Given the description of an element on the screen output the (x, y) to click on. 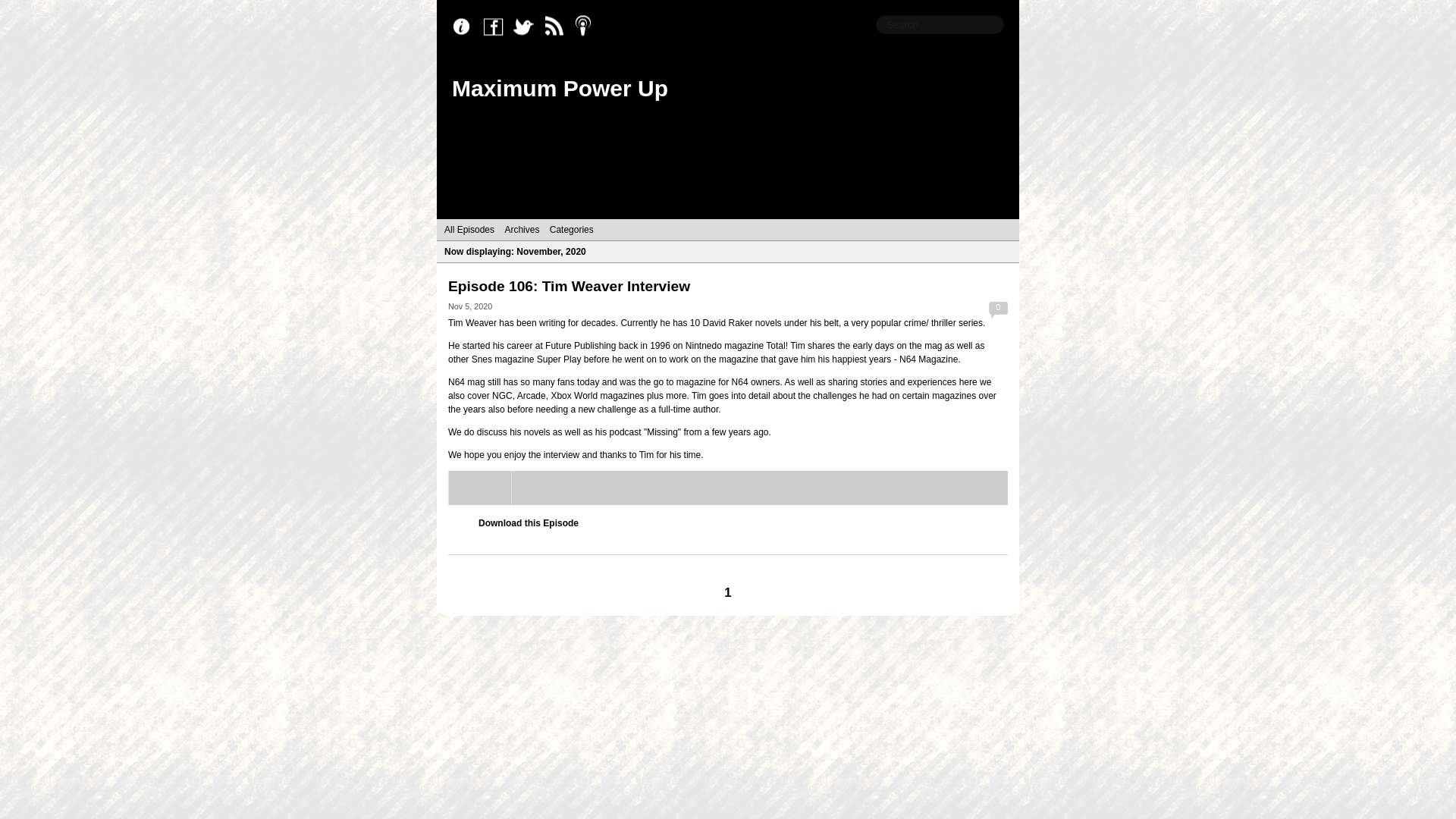
RSS Feed (558, 26)
Facebook (496, 26)
Libsyn Player (727, 487)
Subscribe in Apple Podcasts (588, 26)
Maximum Power Up (559, 88)
Twitter (527, 26)
